Given the description of an element on the screen output the (x, y) to click on. 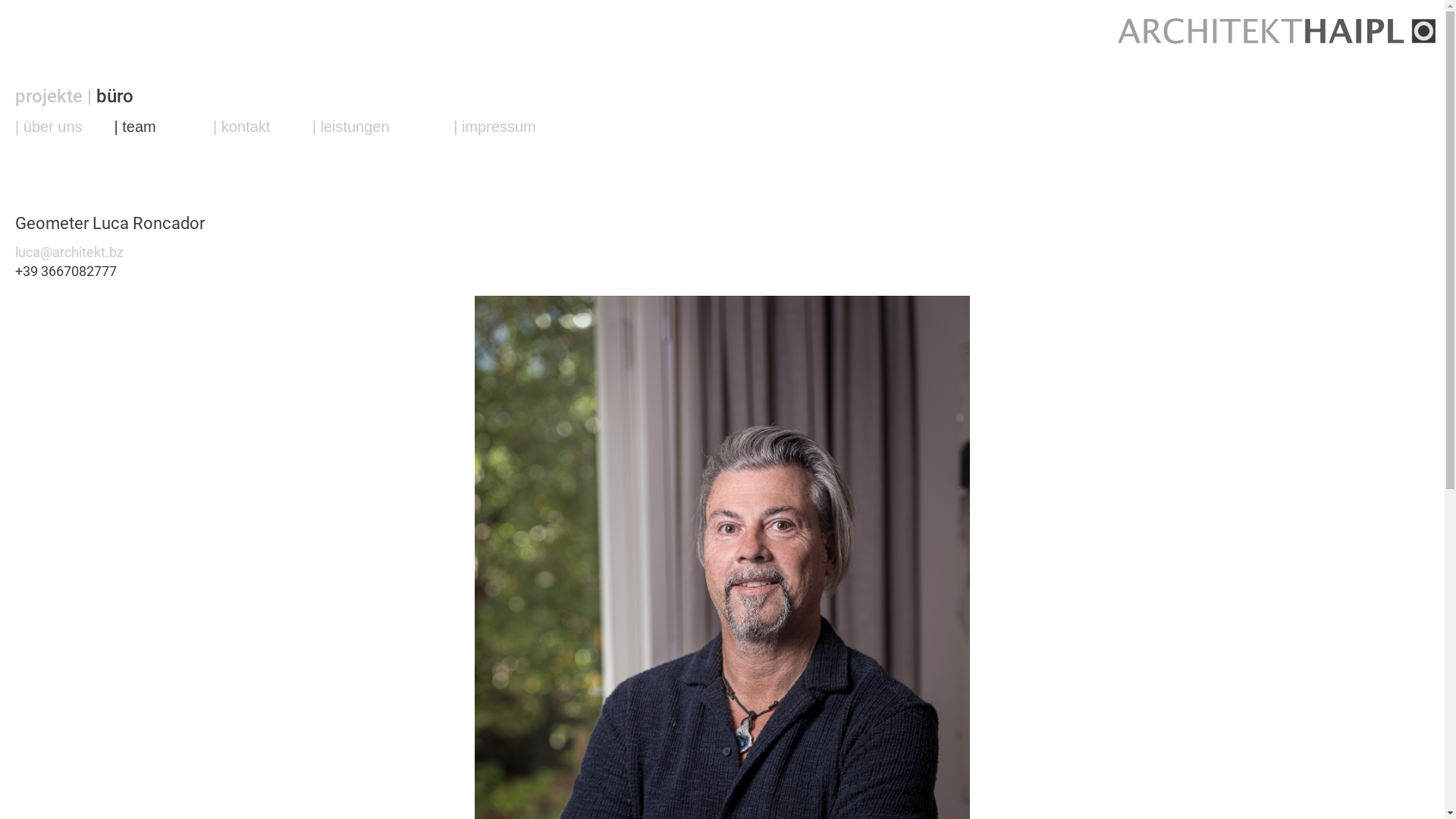
| kontakt Element type: text (241, 126)
luca@architekt.bz Element type: text (69, 252)
projekte Element type: text (51, 95)
| leistungen Element type: text (350, 126)
| impressum Element type: text (494, 126)
| team Element type: text (135, 126)
